Given the description of an element on the screen output the (x, y) to click on. 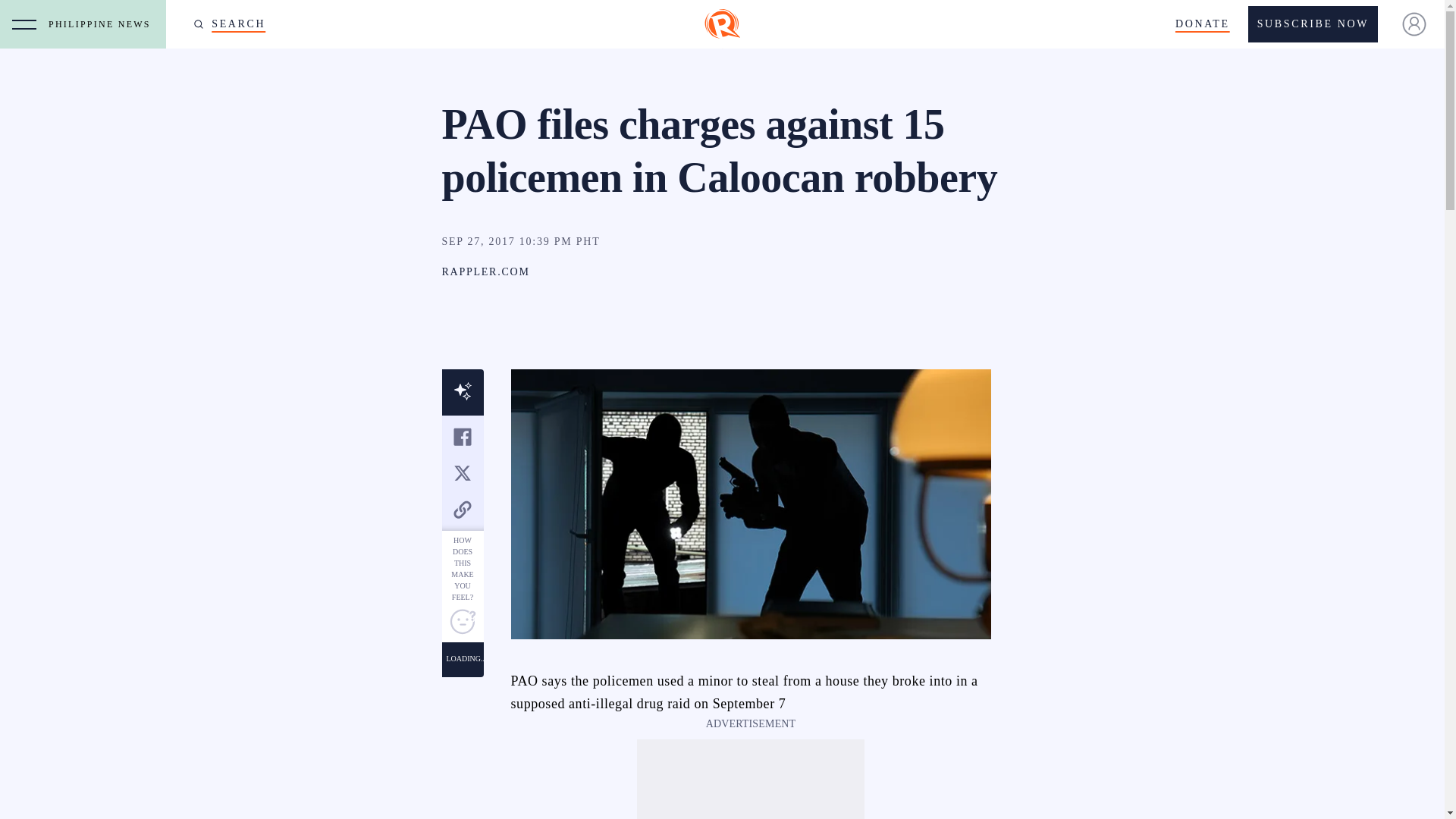
PHILIPPINE NEWS (103, 23)
OPEN NAVIGATION (24, 24)
